Given the description of an element on the screen output the (x, y) to click on. 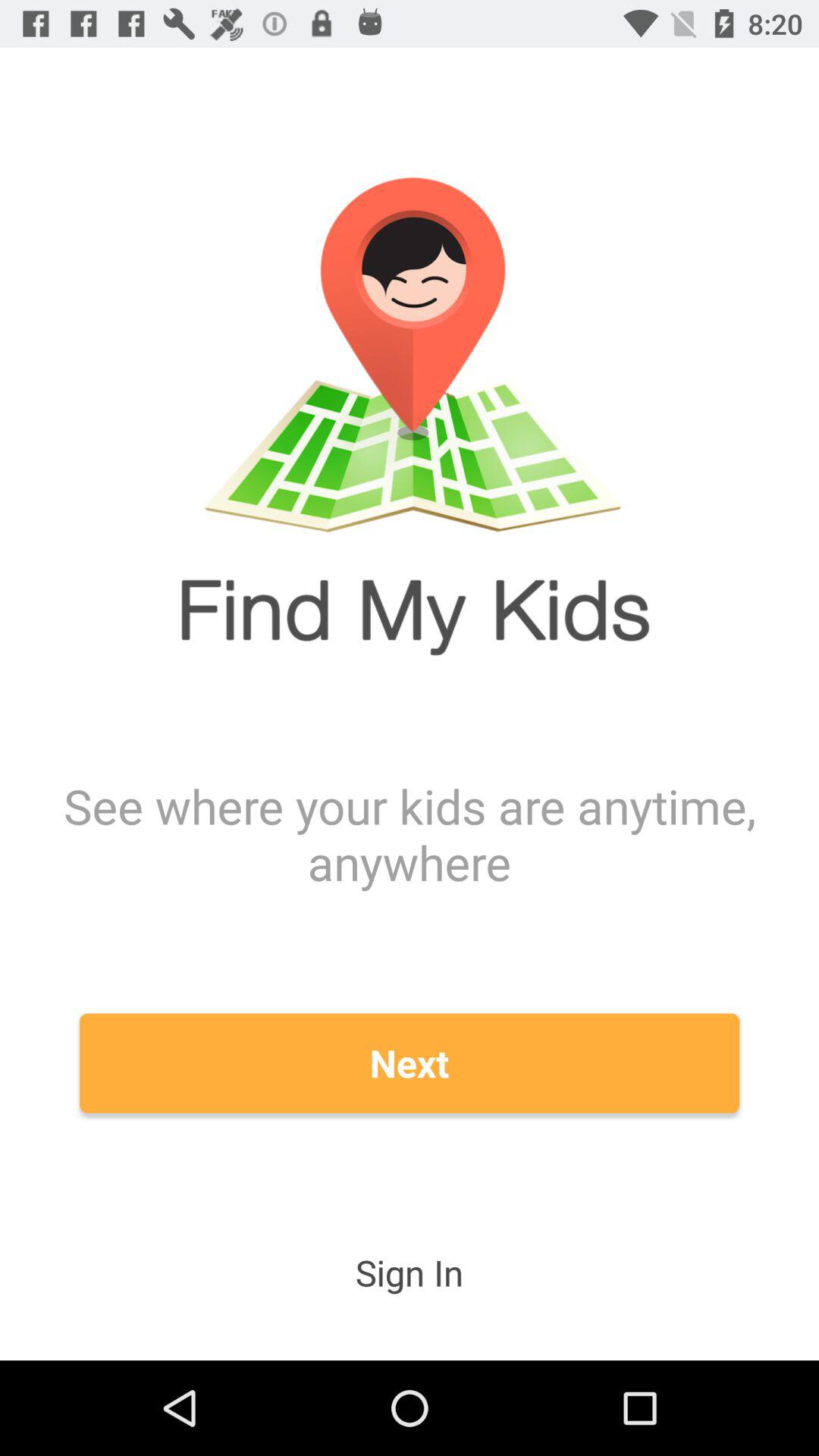
choose the item below see where your item (409, 1063)
